Given the description of an element on the screen output the (x, y) to click on. 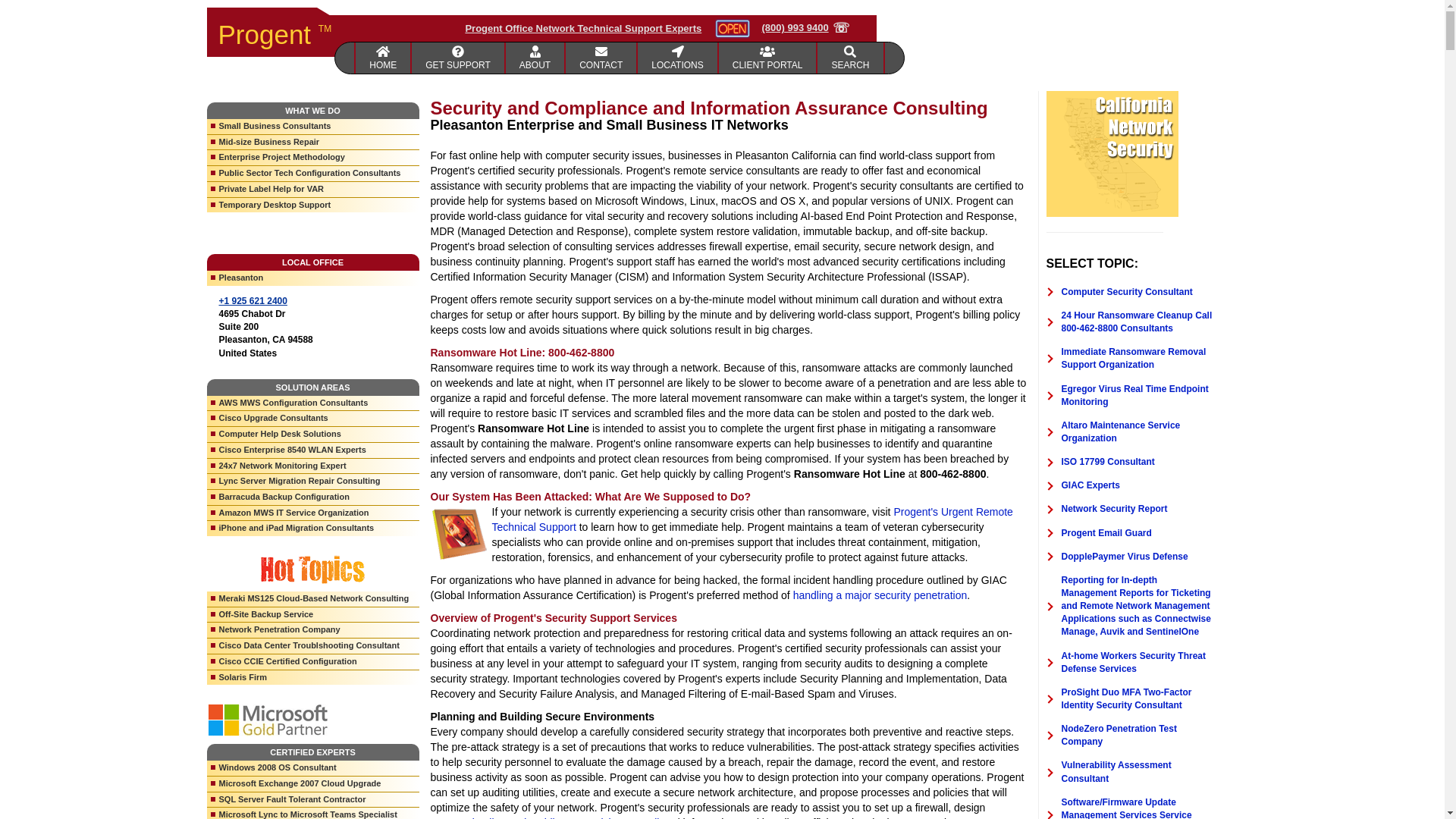
Progent Phone Numbers (601, 57)
Progent Phone Numbers (677, 57)
Urgent Online Network Support (751, 519)
24-7 Small Business IT Specialists (535, 57)
Security Attack Response Consultants (880, 594)
Call for Support (804, 28)
